Given the description of an element on the screen output the (x, y) to click on. 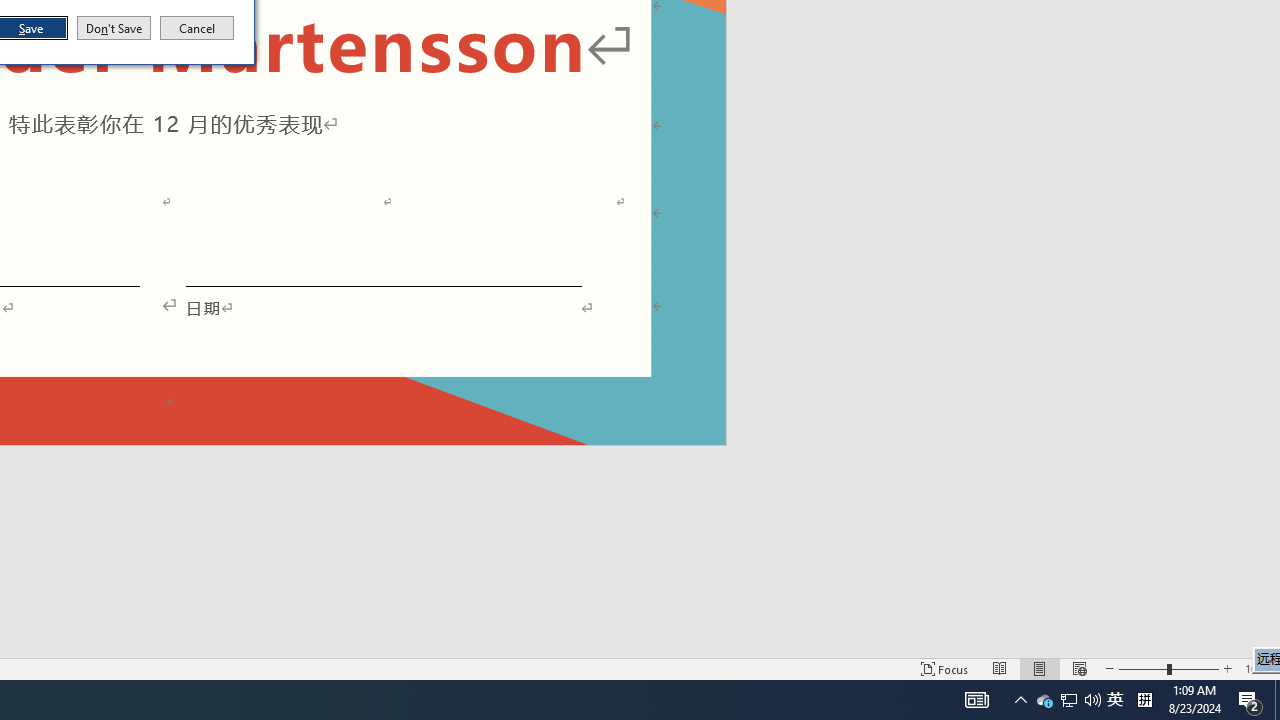
Don't Save (113, 27)
Zoom 100% (1258, 668)
Tray Input Indicator - Chinese (Simplified, China) (1115, 699)
